Given the description of an element on the screen output the (x, y) to click on. 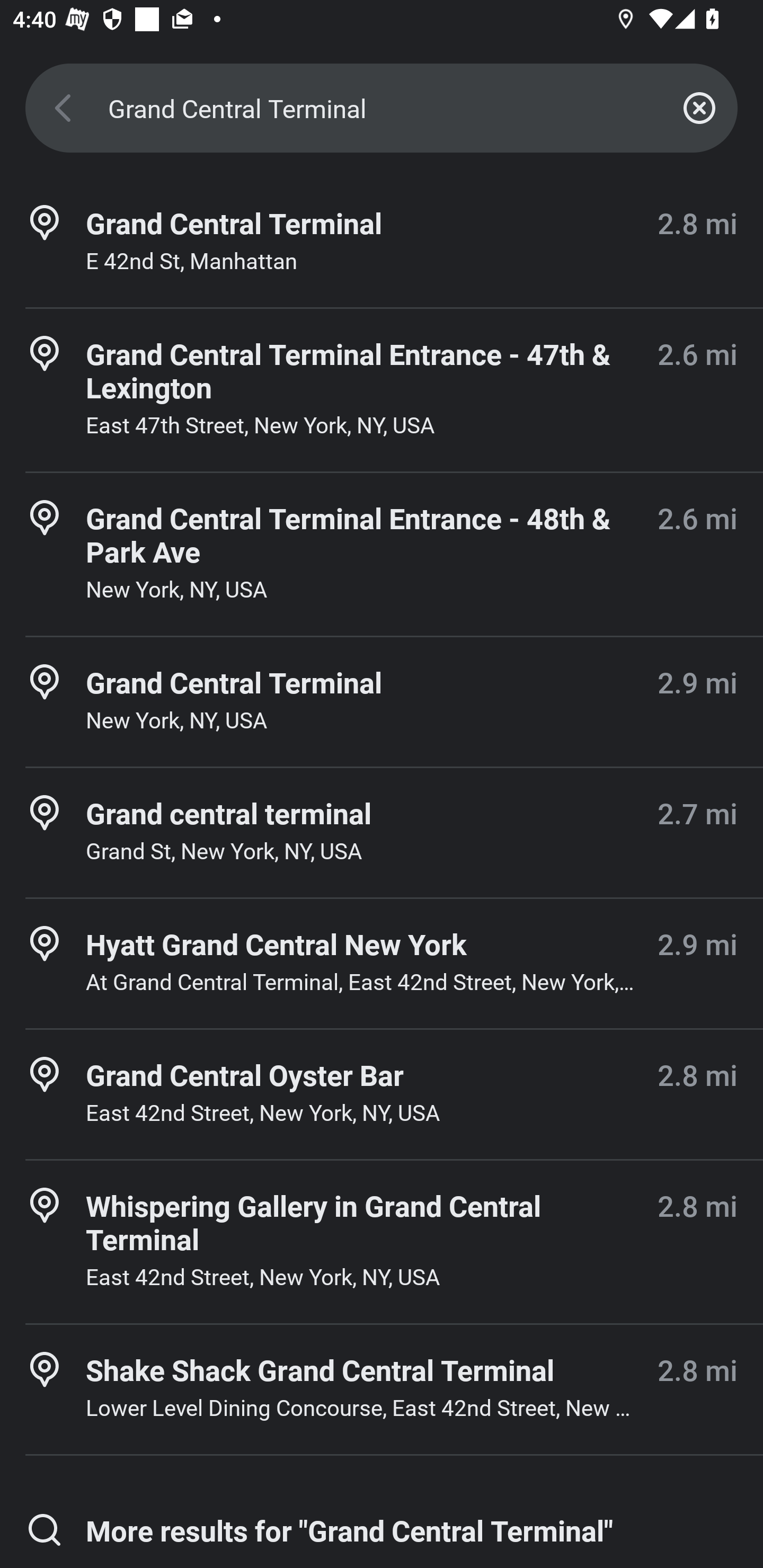
Grand Central Terminal SEARCH_SCREEN_SEARCH_FIELD (381, 108)
Grand Central Terminal 2.8 mi E 42nd St, Manhattan (381, 242)
Grand Central Terminal 2.9 mi New York, NY, USA (381, 701)
More results for "Grand Central Terminal" (381, 1526)
